Given the description of an element on the screen output the (x, y) to click on. 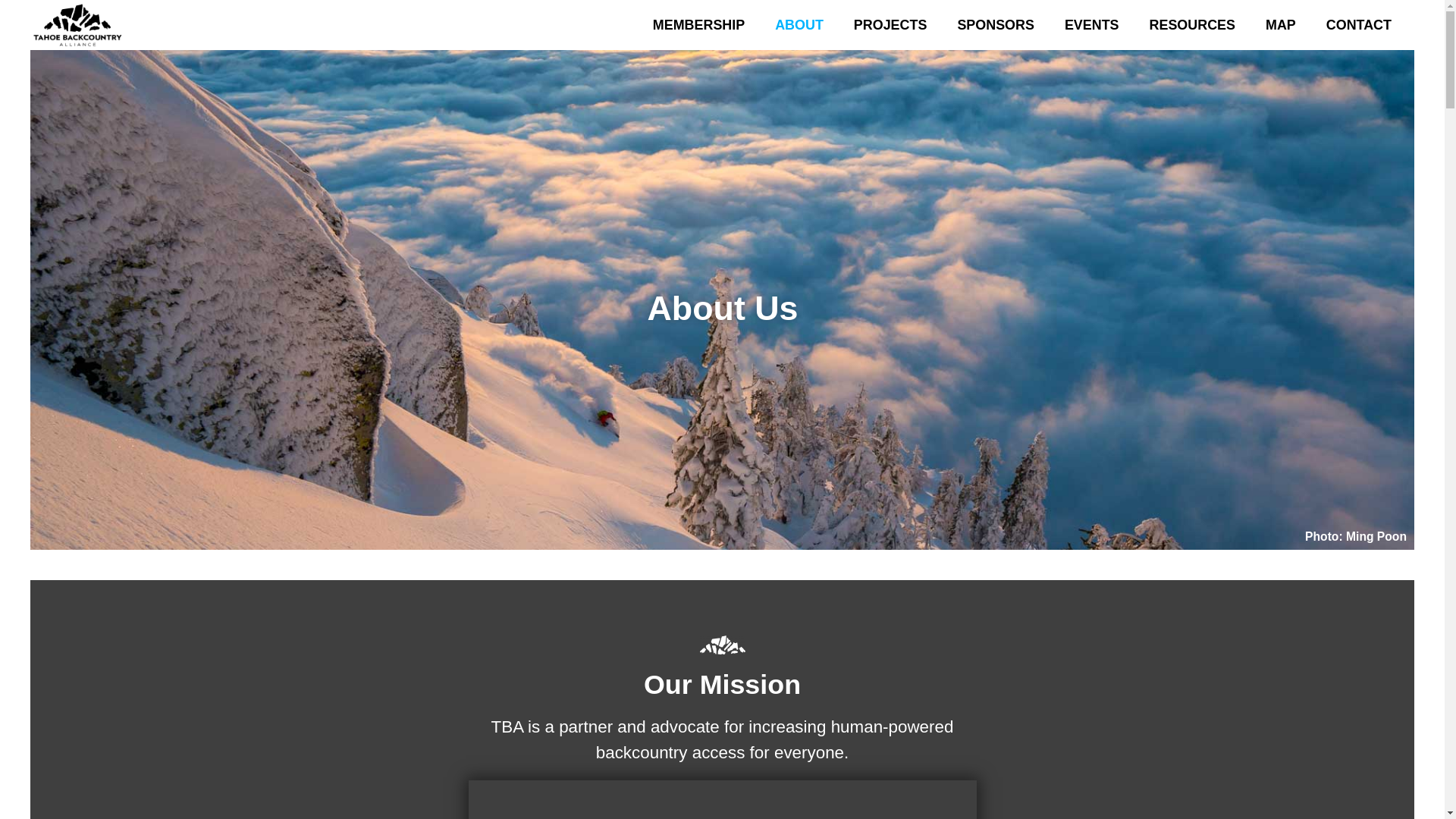
CONTACT (1358, 24)
RESOURCES (1192, 24)
SPONSORS (995, 24)
MAP (1280, 24)
MEMBERSHIP (698, 24)
EVENTS (1091, 24)
ABOUT (799, 24)
PROJECTS (890, 24)
